Given the description of an element on the screen output the (x, y) to click on. 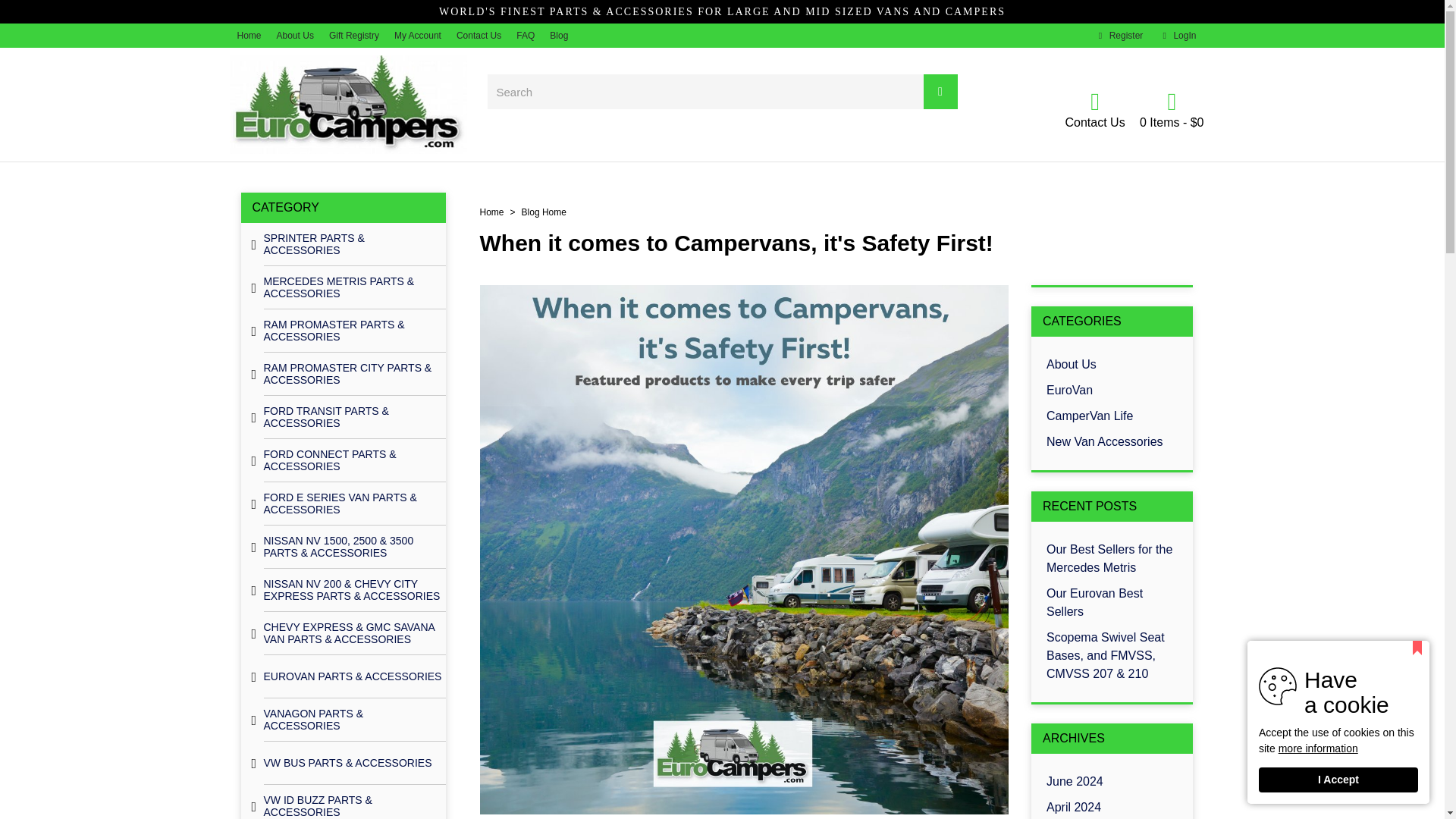
Contact Us (1094, 108)
Home (247, 35)
Gift Registry (354, 35)
Contact Us (1118, 35)
Blog (478, 35)
About Us (558, 35)
My Account (295, 35)
FAQ (1176, 35)
